Given the description of an element on the screen output the (x, y) to click on. 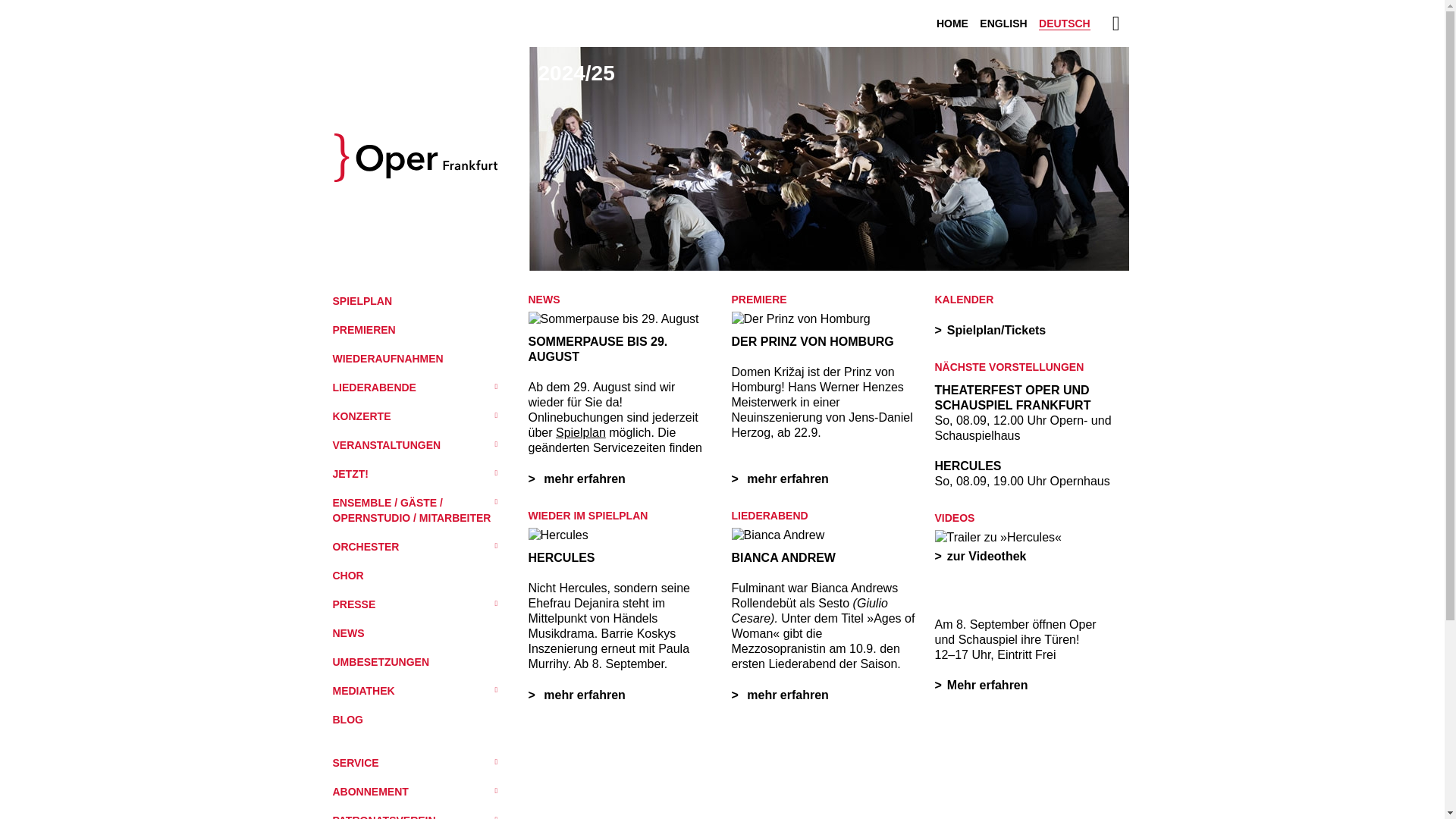
PREMIEREN (416, 328)
KONZERTE (416, 415)
SPIELPLAN (416, 299)
HOME (952, 23)
LIEDERABENDE (416, 386)
DEUTSCH (1064, 23)
ENGLISH (1002, 23)
